Given the description of an element on the screen output the (x, y) to click on. 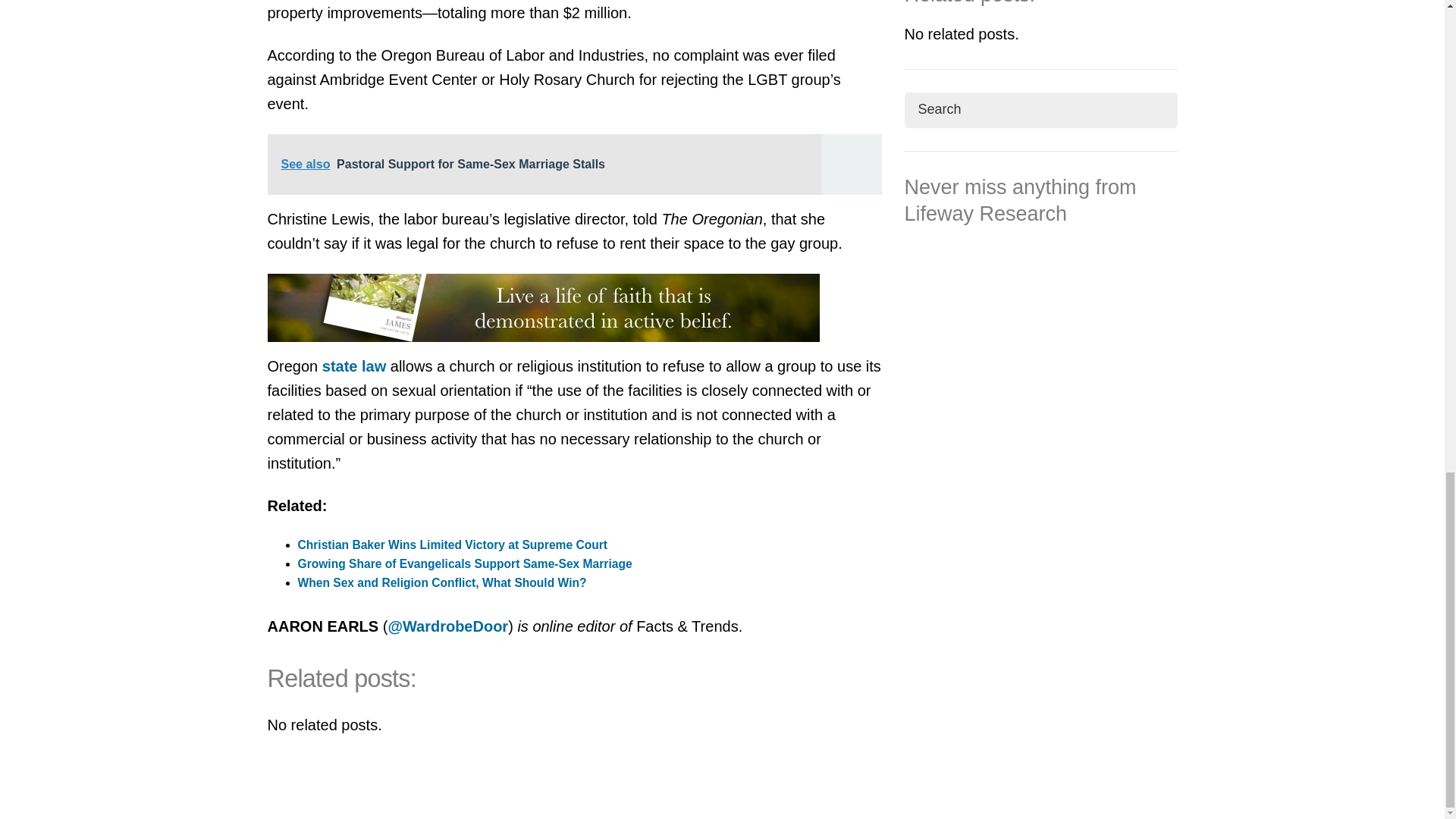
When Sex and Religion Conflict, What Should Win? (441, 582)
Christian Baker Wins Limited Victory at Supreme Court (452, 544)
Growing Share of Evangelicals Support Same-Sex Marriage (464, 563)
state law (353, 365)
See also  Pastoral Support for Same-Sex Marriage Stalls (573, 164)
